Given the description of an element on the screen output the (x, y) to click on. 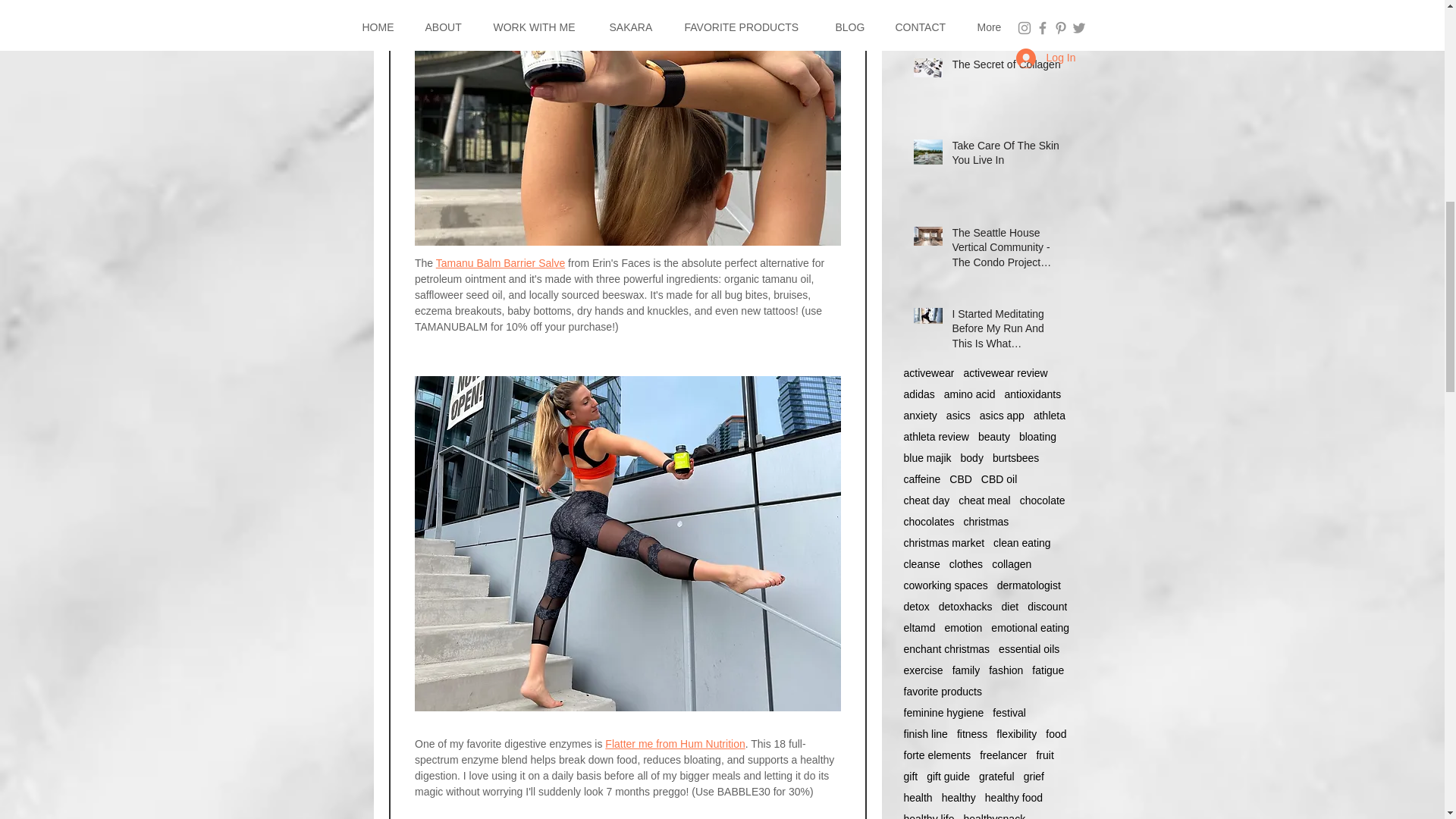
Increase Your Traffic and Reach Your Dream Customers (1006, 8)
Tamanu Balm Barrier Salve (499, 263)
I Started Meditating Before My Run And This Is What Happened (1006, 332)
Take Care Of The Skin You Live In (1006, 156)
The Secret of Collagen (1006, 67)
Flatter me from Hum Nutrition (674, 743)
